Given the description of an element on the screen output the (x, y) to click on. 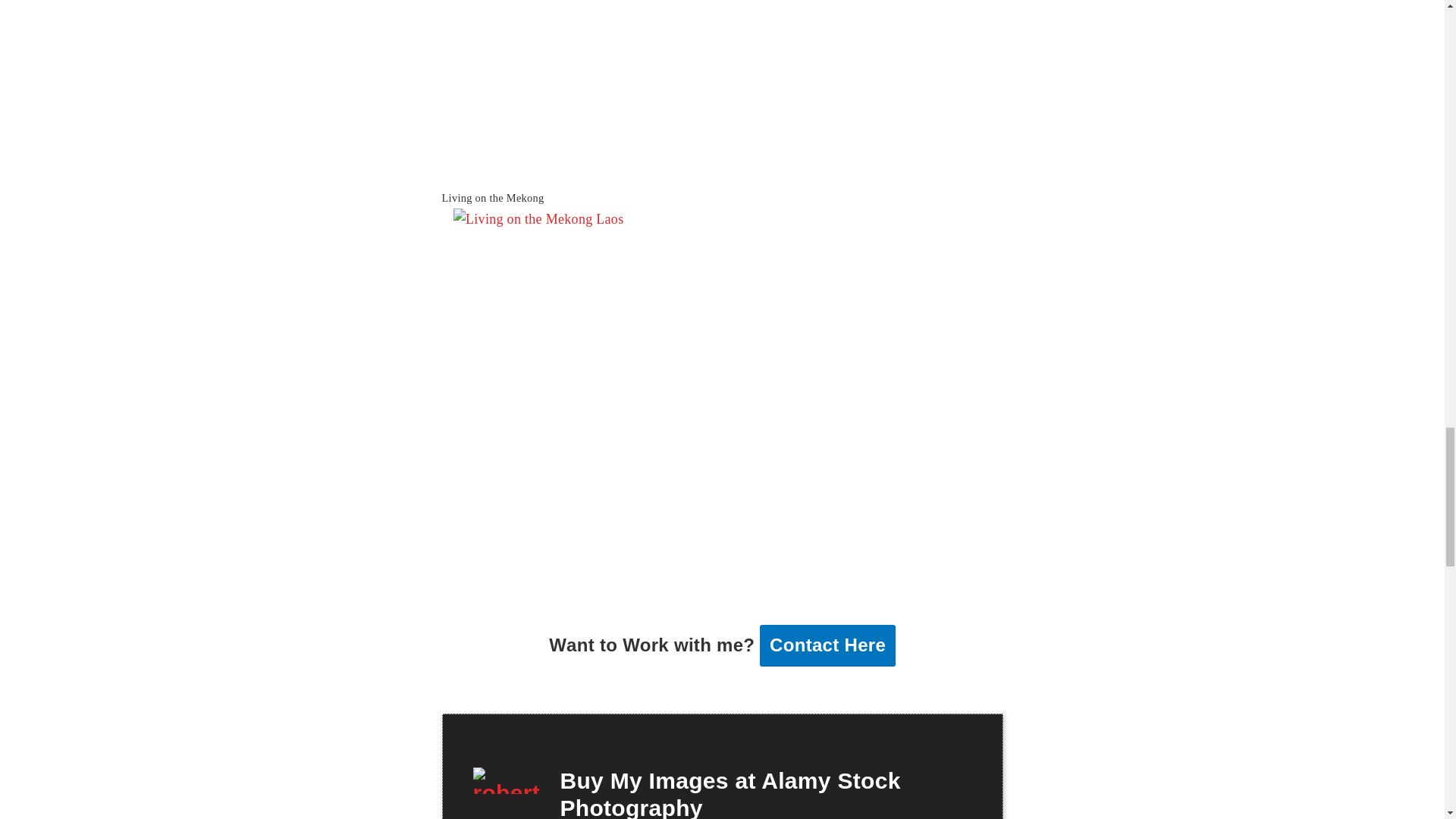
Contact Robert Mora (827, 644)
Contact Here (827, 644)
Buy My Images at Alamy Stock Photography (729, 793)
